Given the description of an element on the screen output the (x, y) to click on. 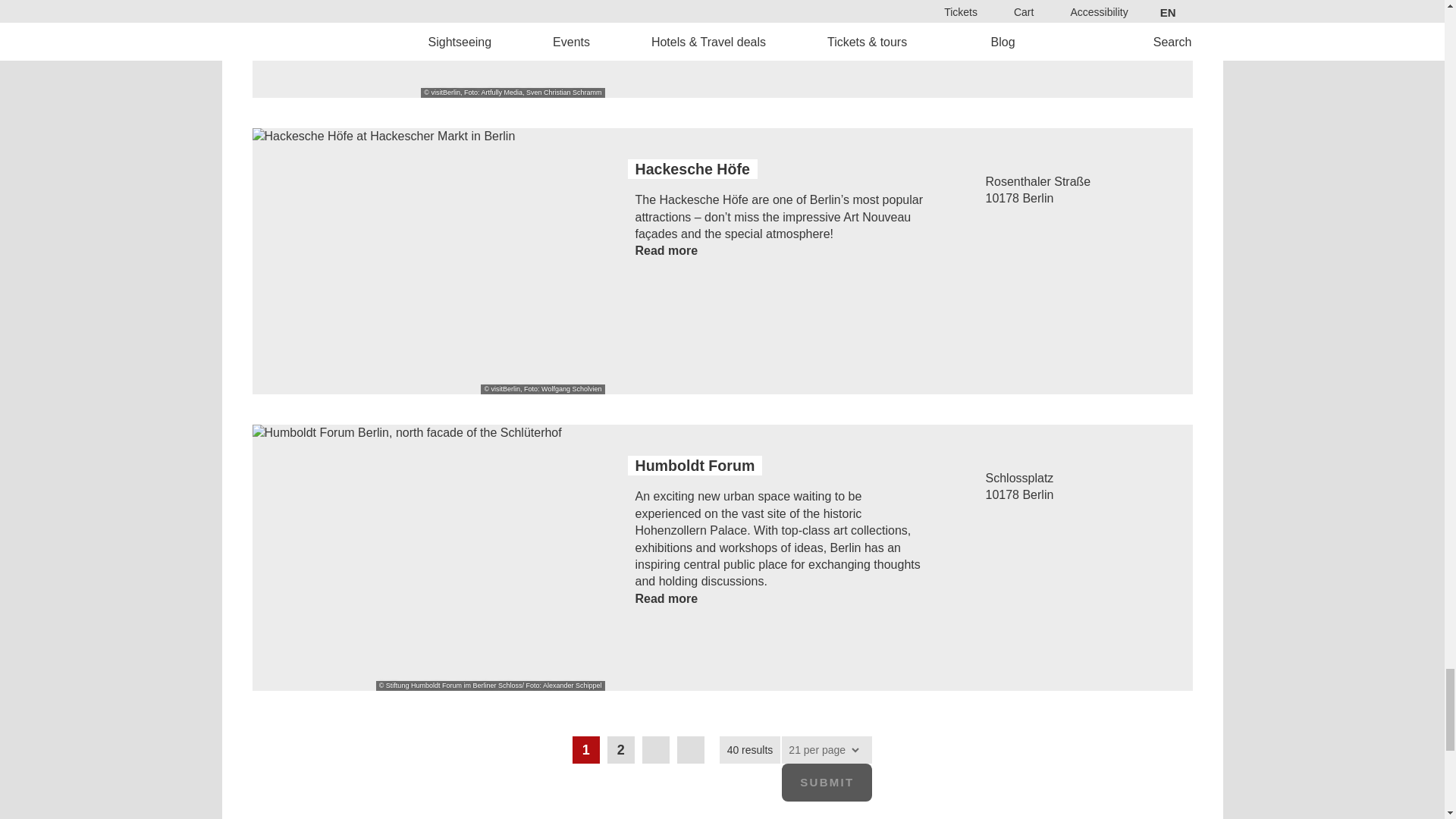
Submit (826, 782)
